Given the description of an element on the screen output the (x, y) to click on. 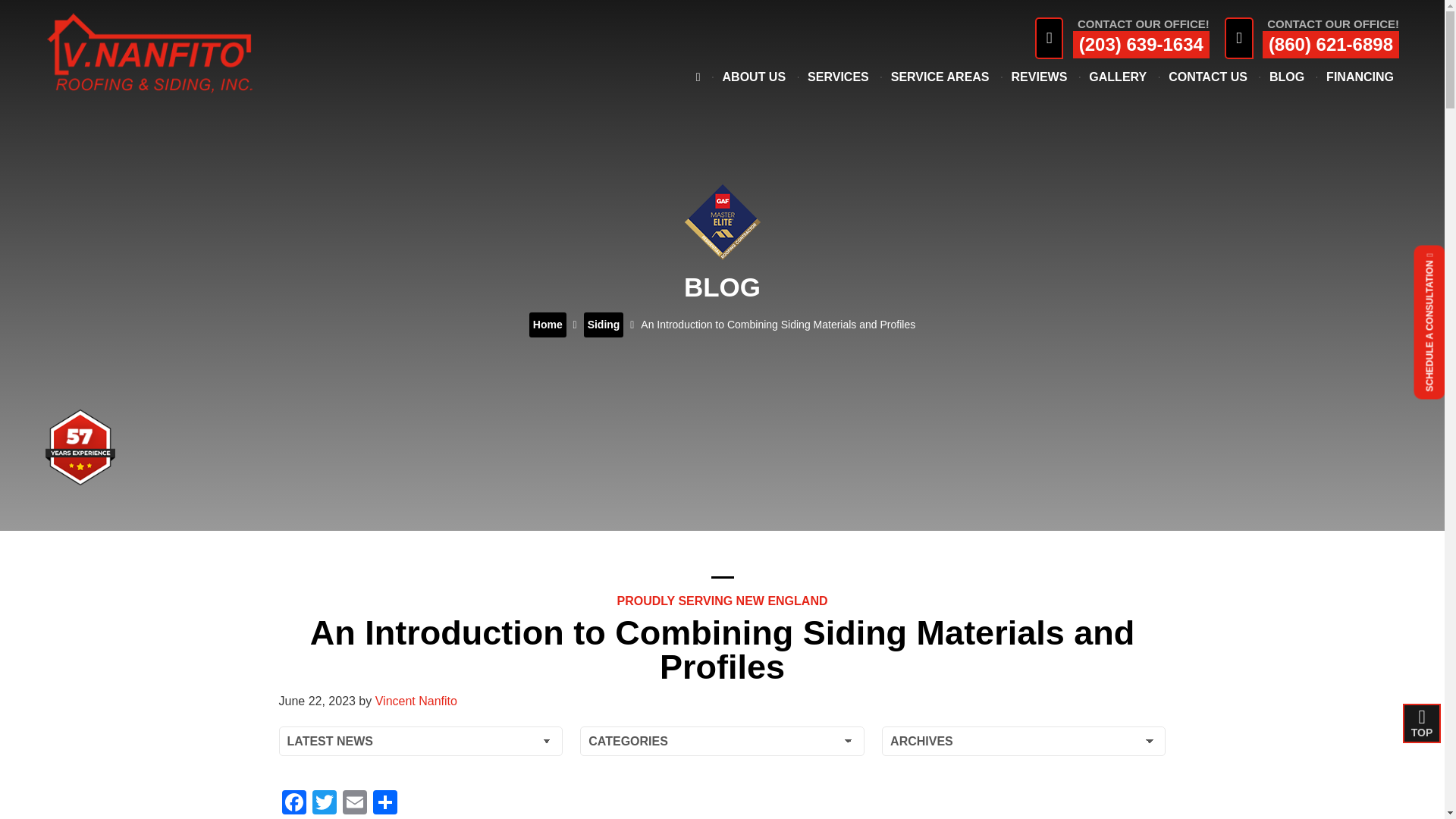
57 Years (80, 447)
Email (354, 804)
SERVICES (838, 17)
Twitter (323, 804)
gaf master elite roofing contractor (722, 222)
Facebook (293, 804)
